Given the description of an element on the screen output the (x, y) to click on. 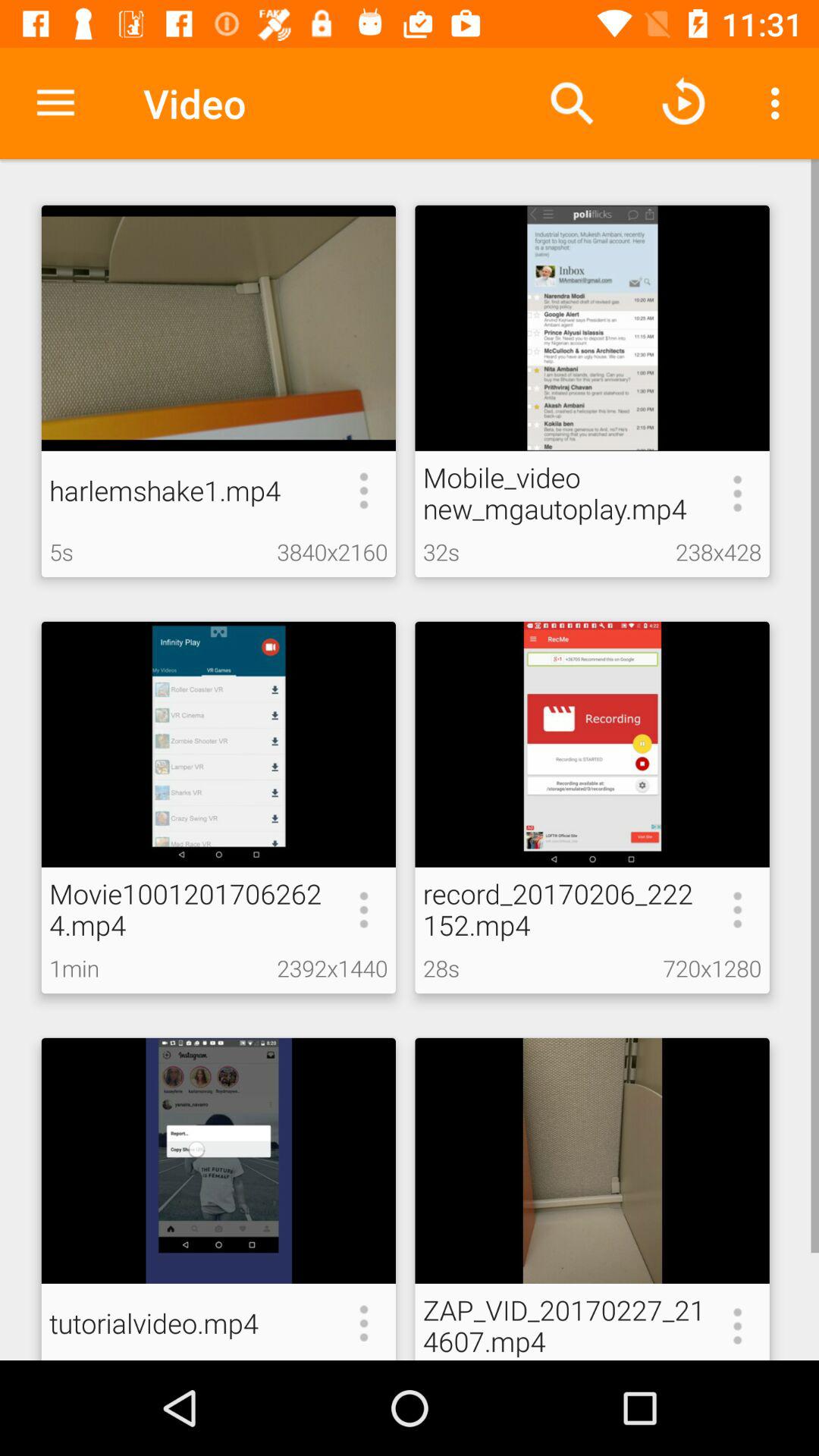
press icon to the left of the video (55, 103)
